Given the description of an element on the screen output the (x, y) to click on. 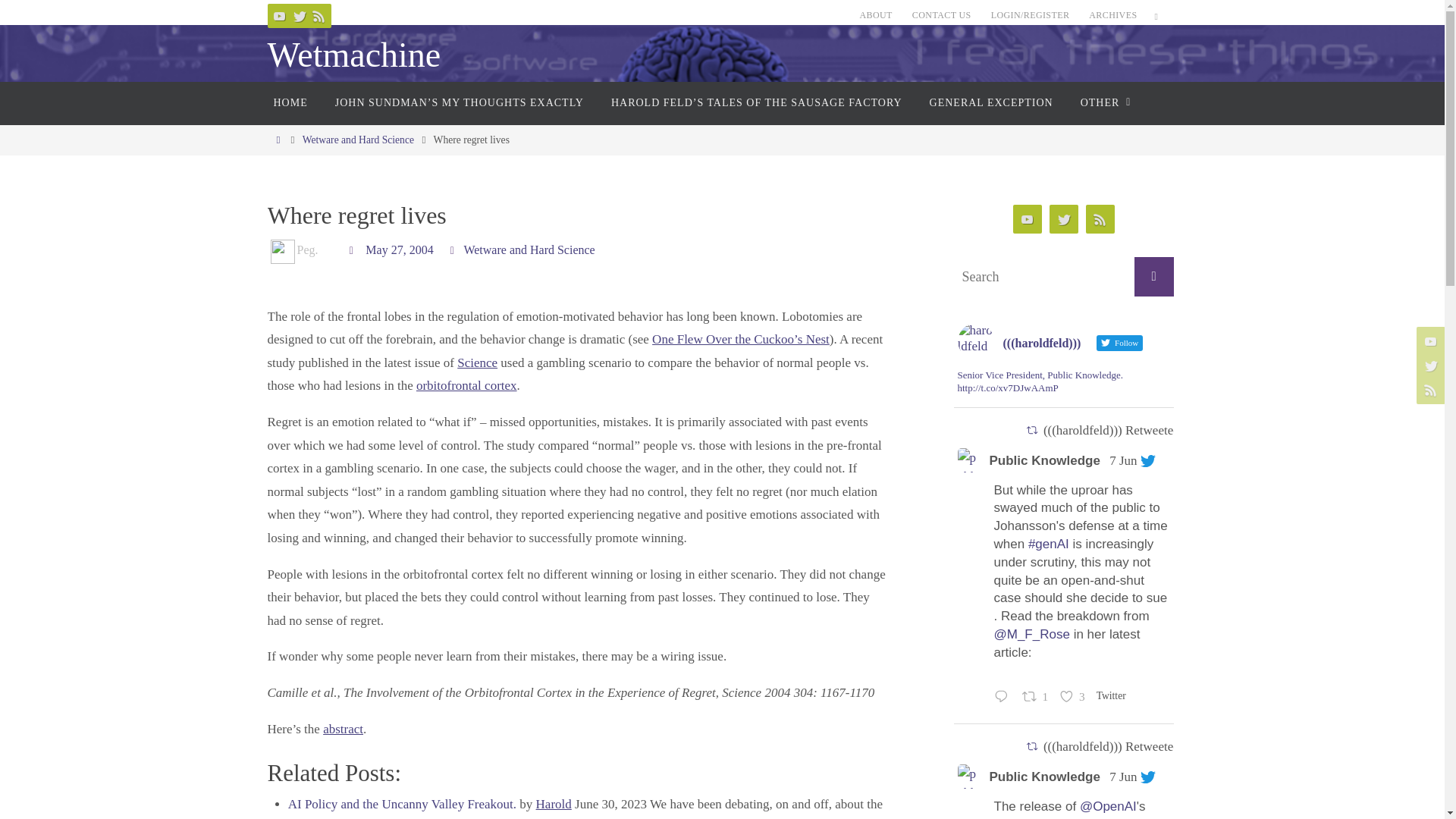
ABOUT (875, 14)
Home (277, 139)
Categories (454, 249)
May 27, 2004 (398, 250)
ARCHIVES (1112, 14)
abstract (342, 728)
YouTube (278, 15)
Science (477, 362)
Wetmachine (353, 55)
orbitofrontal cortex (466, 385)
